Given the description of an element on the screen output the (x, y) to click on. 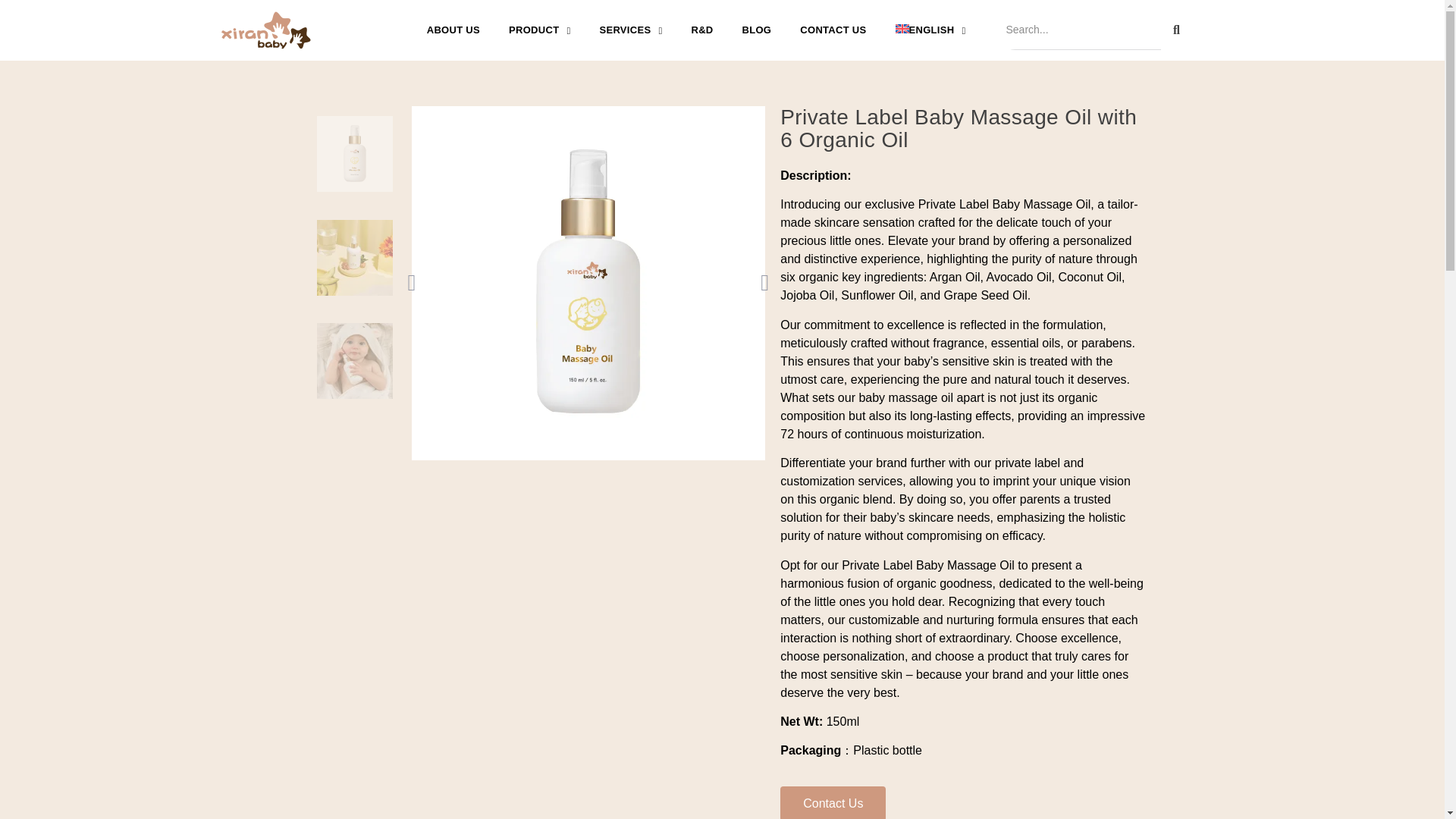
baby massage oil (587, 283)
English (931, 29)
baby massage oil (355, 153)
ABOUT US (453, 29)
PRODUCT (539, 29)
